Given the description of an element on the screen output the (x, y) to click on. 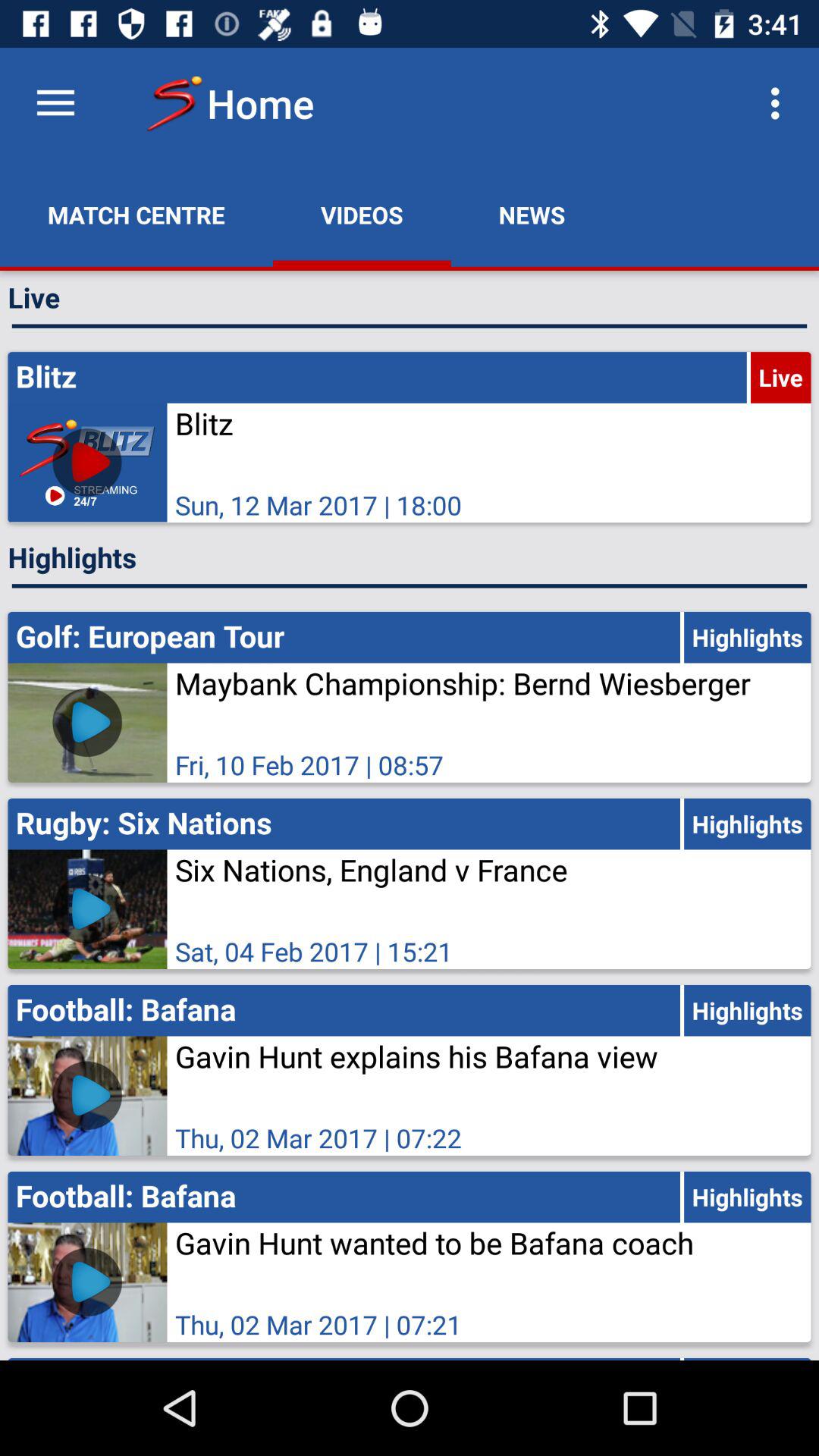
select app next to the news icon (362, 214)
